Given the description of an element on the screen output the (x, y) to click on. 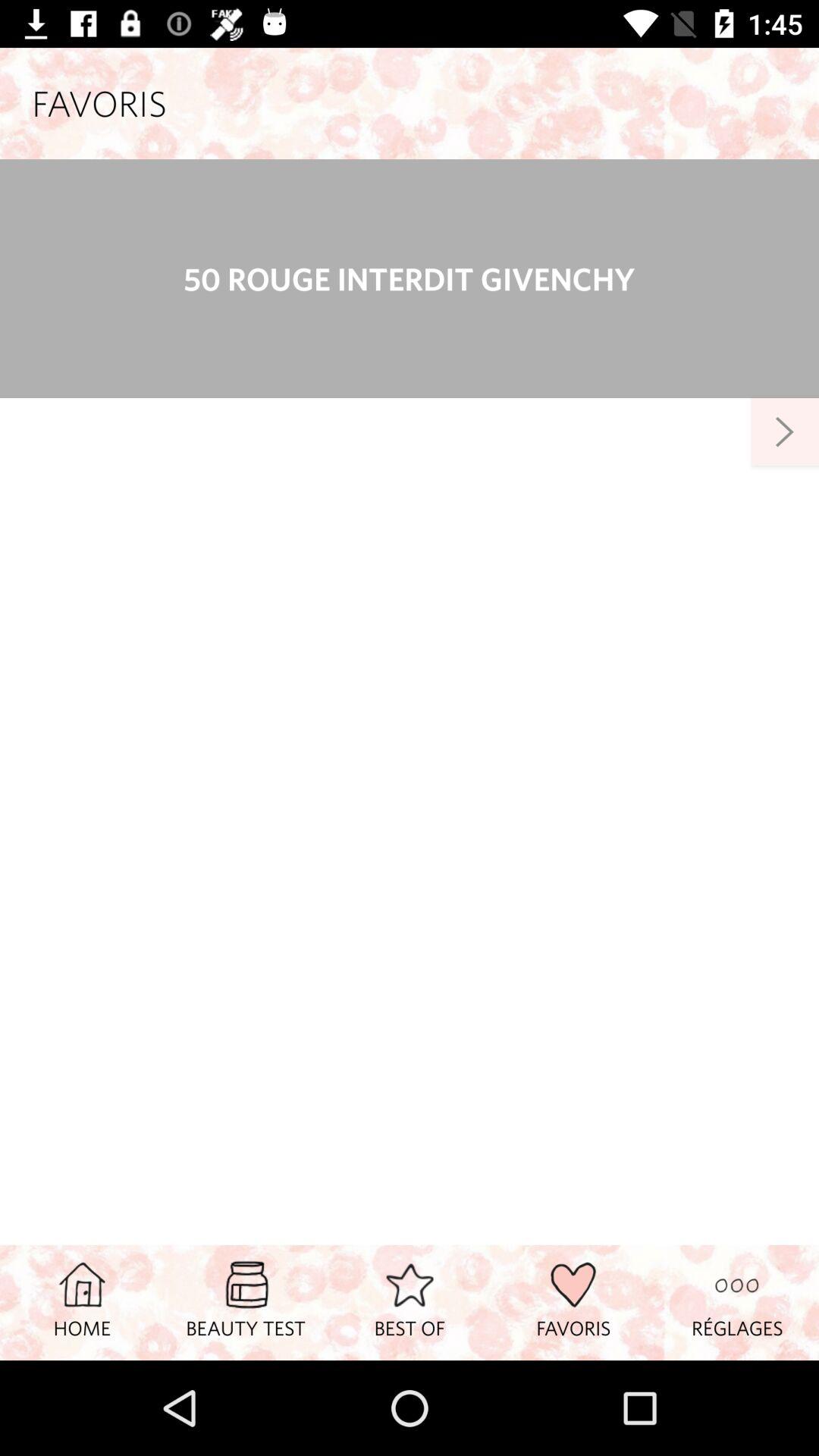
choose item next to the beauty test (409, 1302)
